Given the description of an element on the screen output the (x, y) to click on. 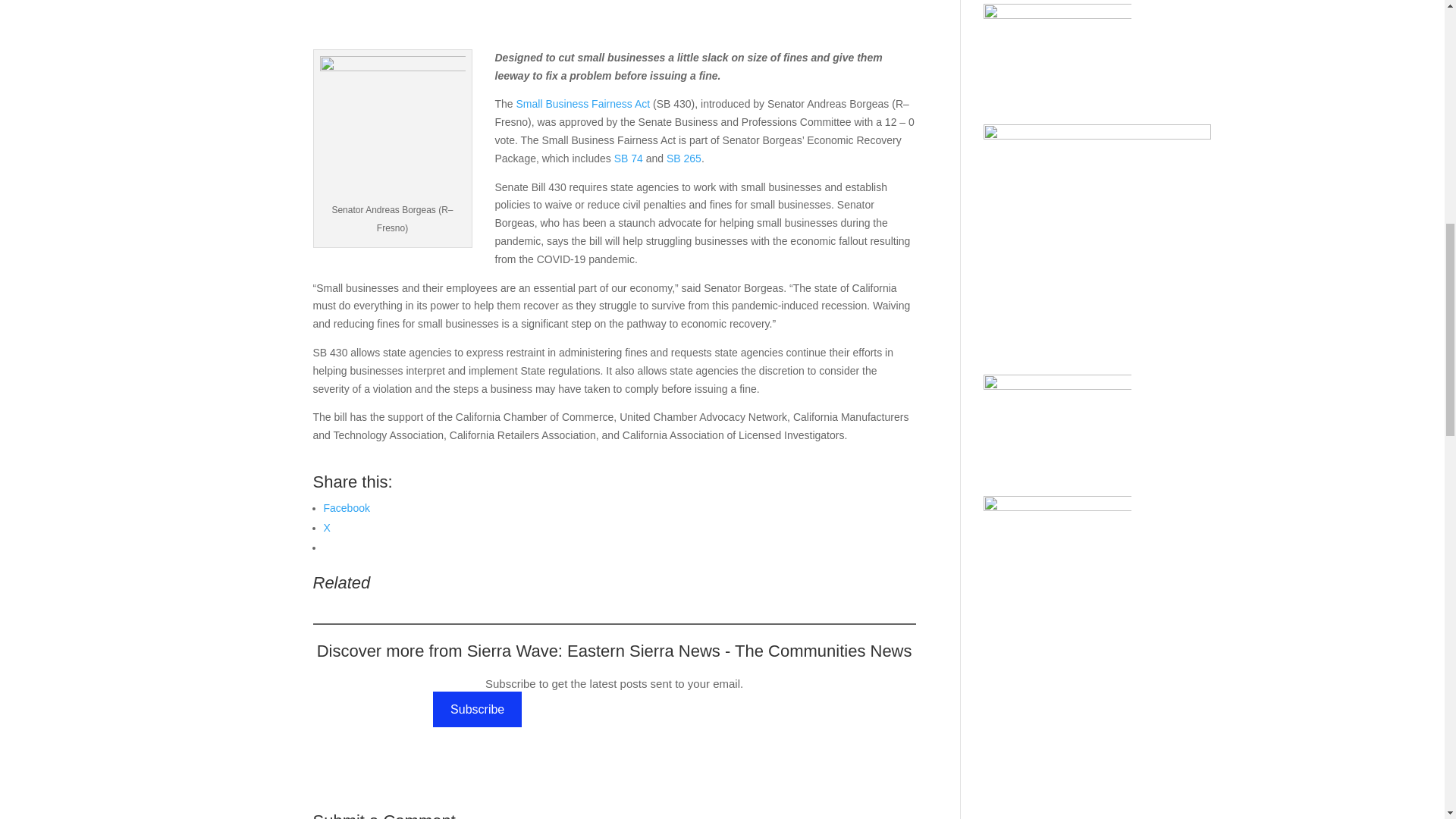
Subscribe (477, 709)
Small Business Fairness Act (583, 103)
Facebook (346, 508)
Click to share on Facebook (346, 508)
SB 74 (628, 158)
SB 265 (683, 158)
